Given the description of an element on the screen output the (x, y) to click on. 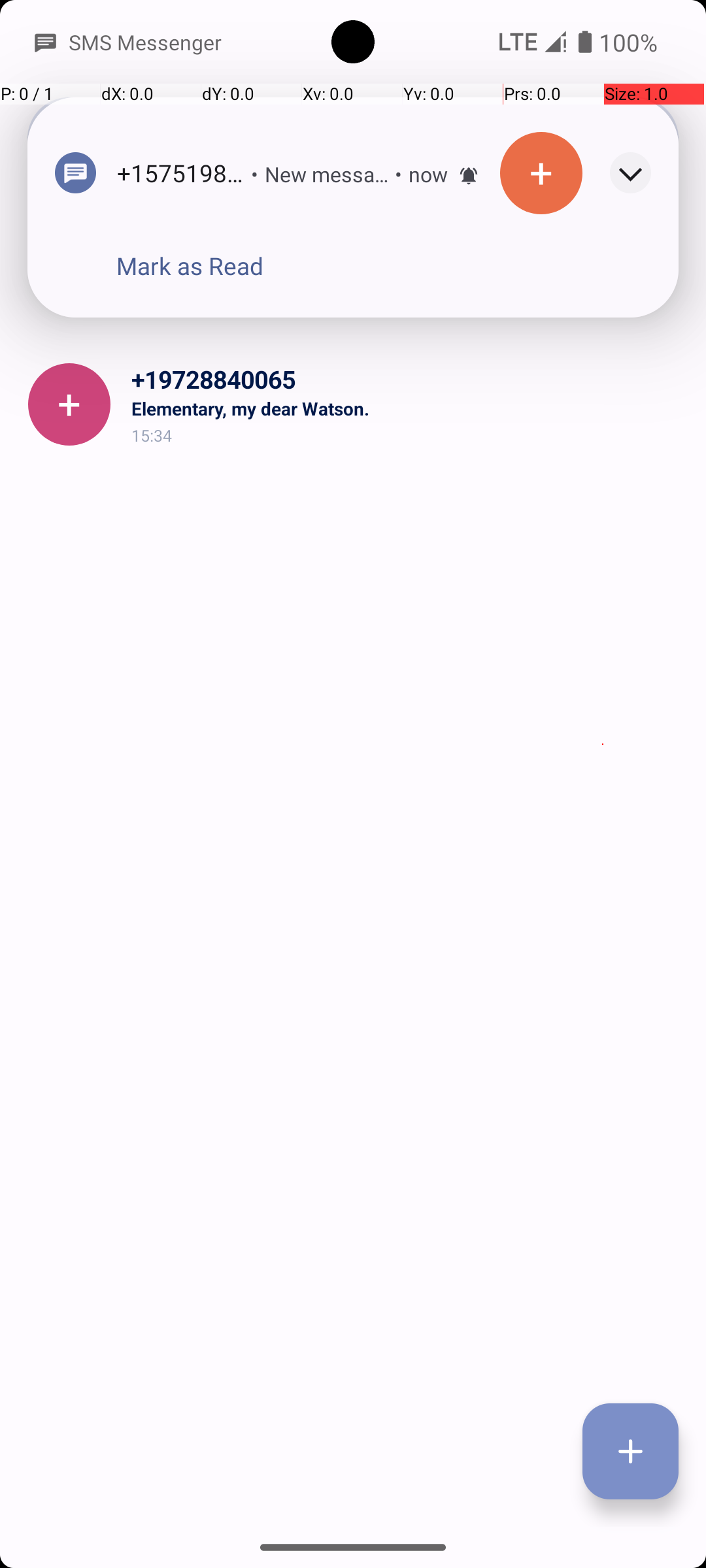
+15751982121 Element type: android.widget.TextView (408, 237)
Book club meets next Tuesday to discuss '1984'. Element type: android.widget.TextView (408, 266)
+19728840065 Element type: android.widget.TextView (408, 378)
Elementary, my dear Watson. Element type: android.widget.TextView (408, 407)
